Given the description of an element on the screen output the (x, y) to click on. 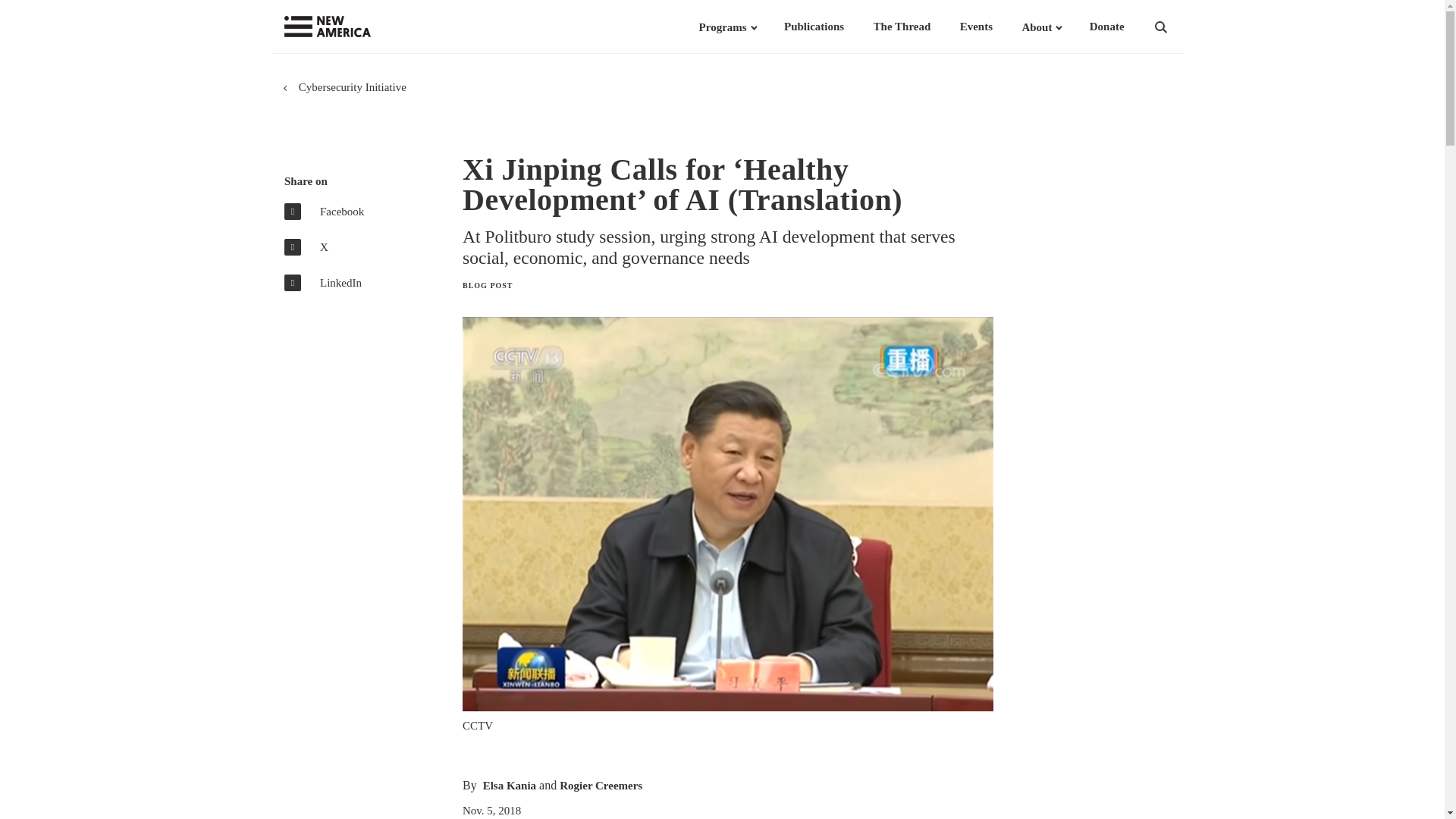
The Thread (902, 26)
New America (357, 26)
Search (1180, 27)
Search (1180, 27)
Search (1180, 27)
Publications (814, 26)
Programs (722, 26)
